Given the description of an element on the screen output the (x, y) to click on. 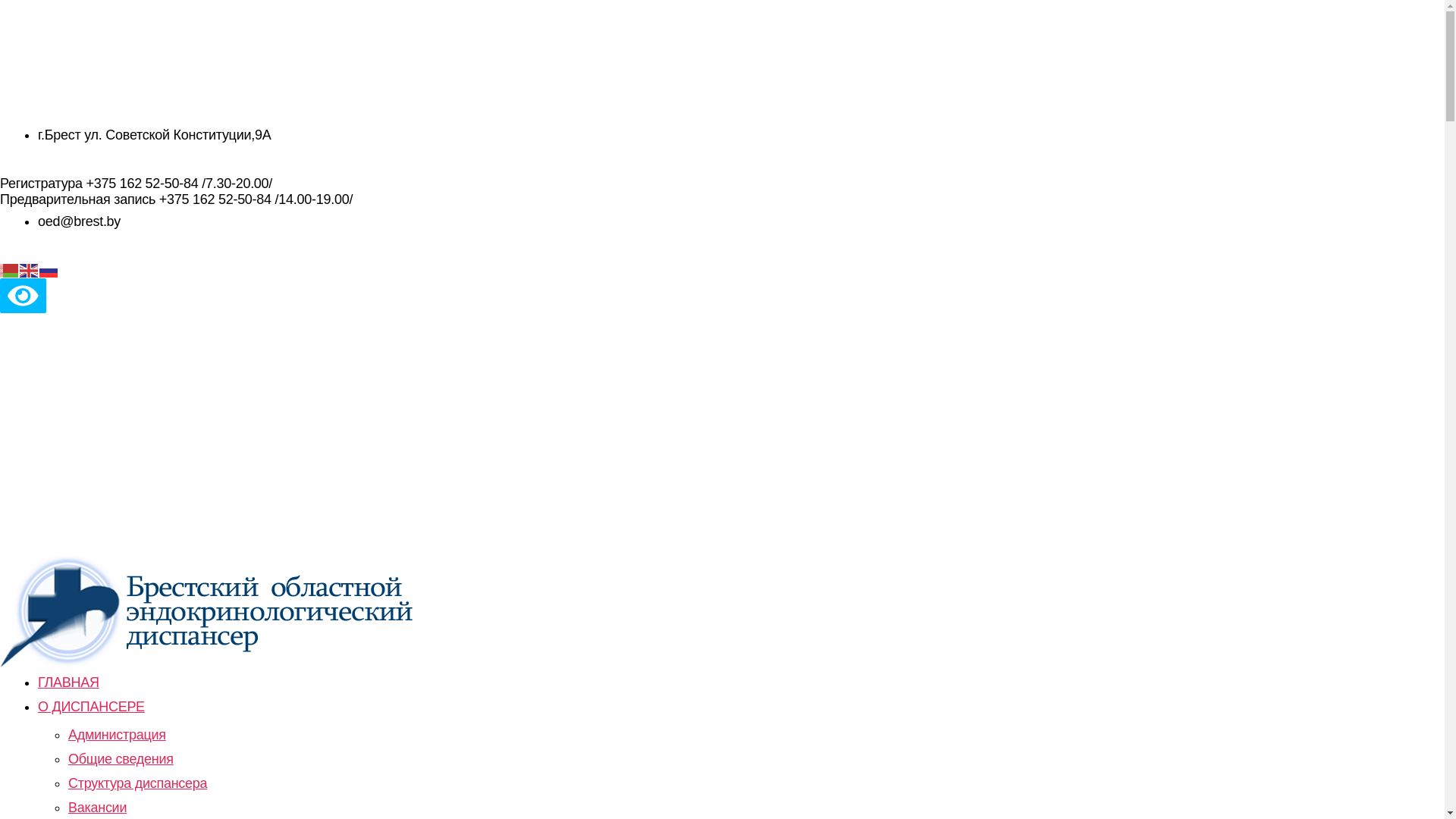
Belarusian Element type: hover (9, 269)
Russian Element type: hover (49, 269)
English Element type: hover (29, 269)
